Given the description of an element on the screen output the (x, y) to click on. 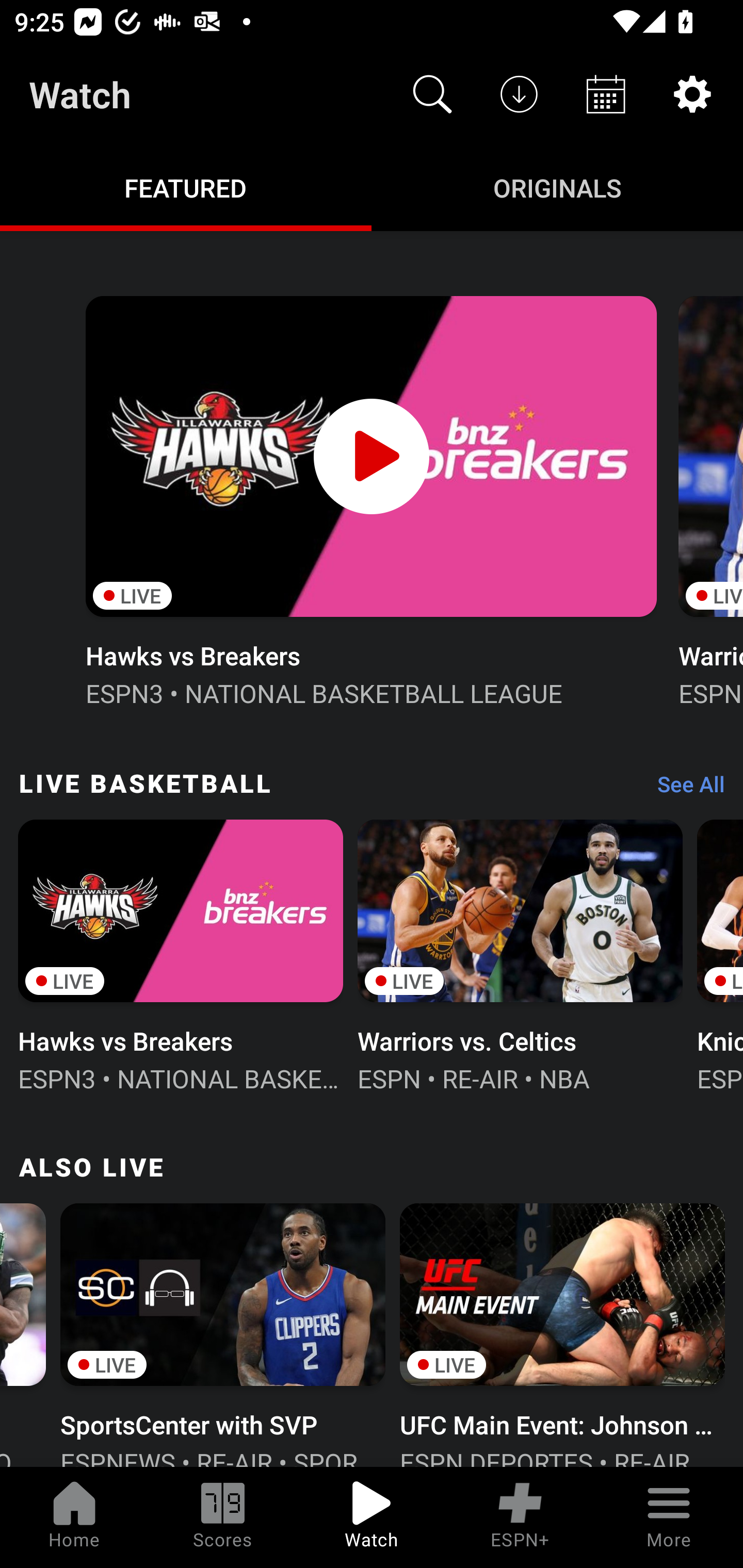
Search (432, 93)
Downloads (518, 93)
Schedule (605, 93)
Settings (692, 93)
Originals ORIGINALS (557, 187)
See All (683, 788)
LIVE Warriors vs. Celtics ESPN • RE-AIR • NBA (519, 954)
Home (74, 1517)
Scores (222, 1517)
ESPN+ (519, 1517)
More (668, 1517)
